Given the description of an element on the screen output the (x, y) to click on. 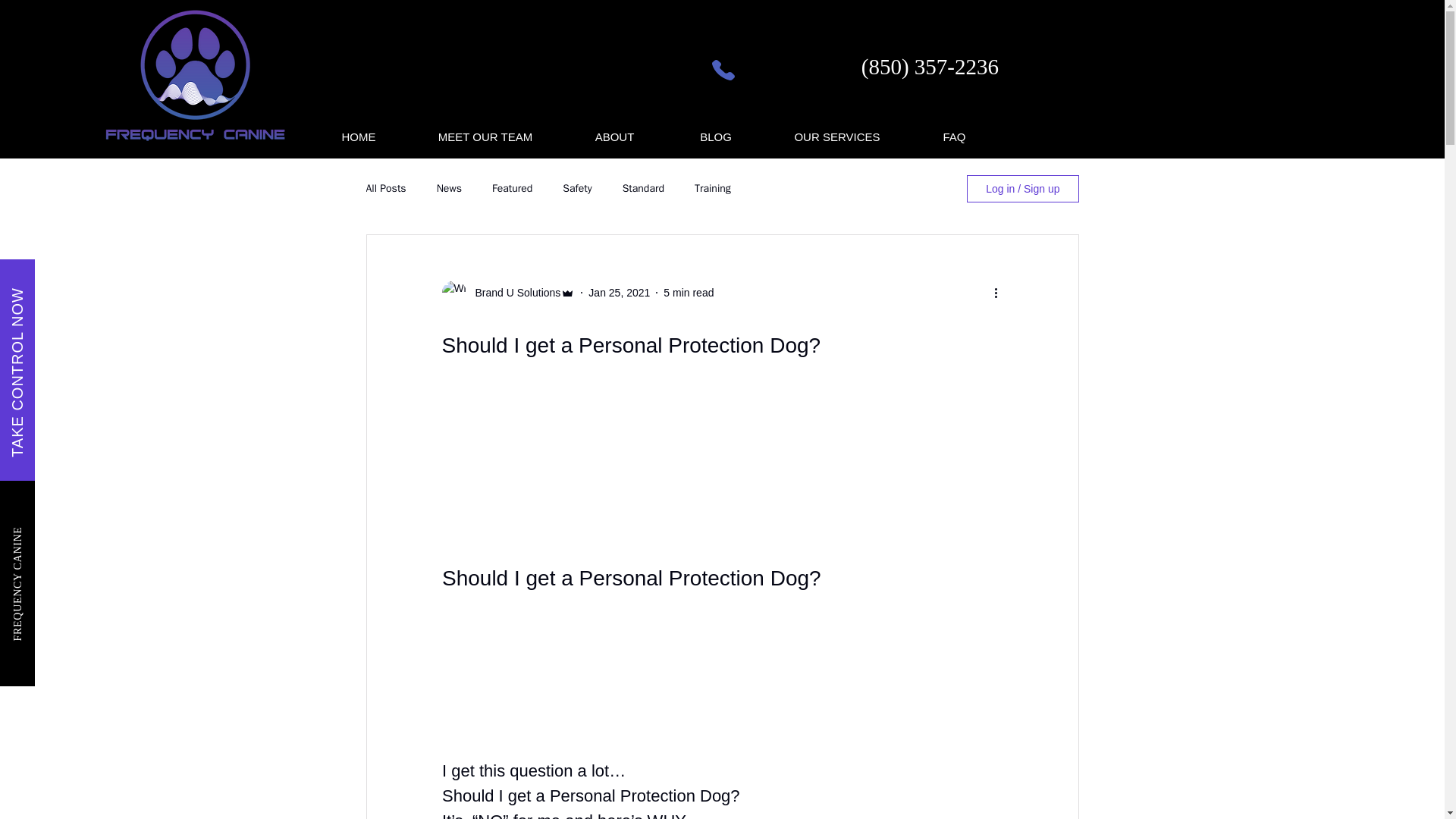
OUR SERVICES (837, 136)
FREQUENCY CANINE (68, 531)
Standard (643, 188)
HOME (358, 136)
TAKE CONTROL NOW (93, 295)
Brand U Solutions  (512, 293)
News (448, 188)
BLOG (715, 136)
Jan 25, 2021 (618, 292)
Training (712, 188)
